Given the description of an element on the screen output the (x, y) to click on. 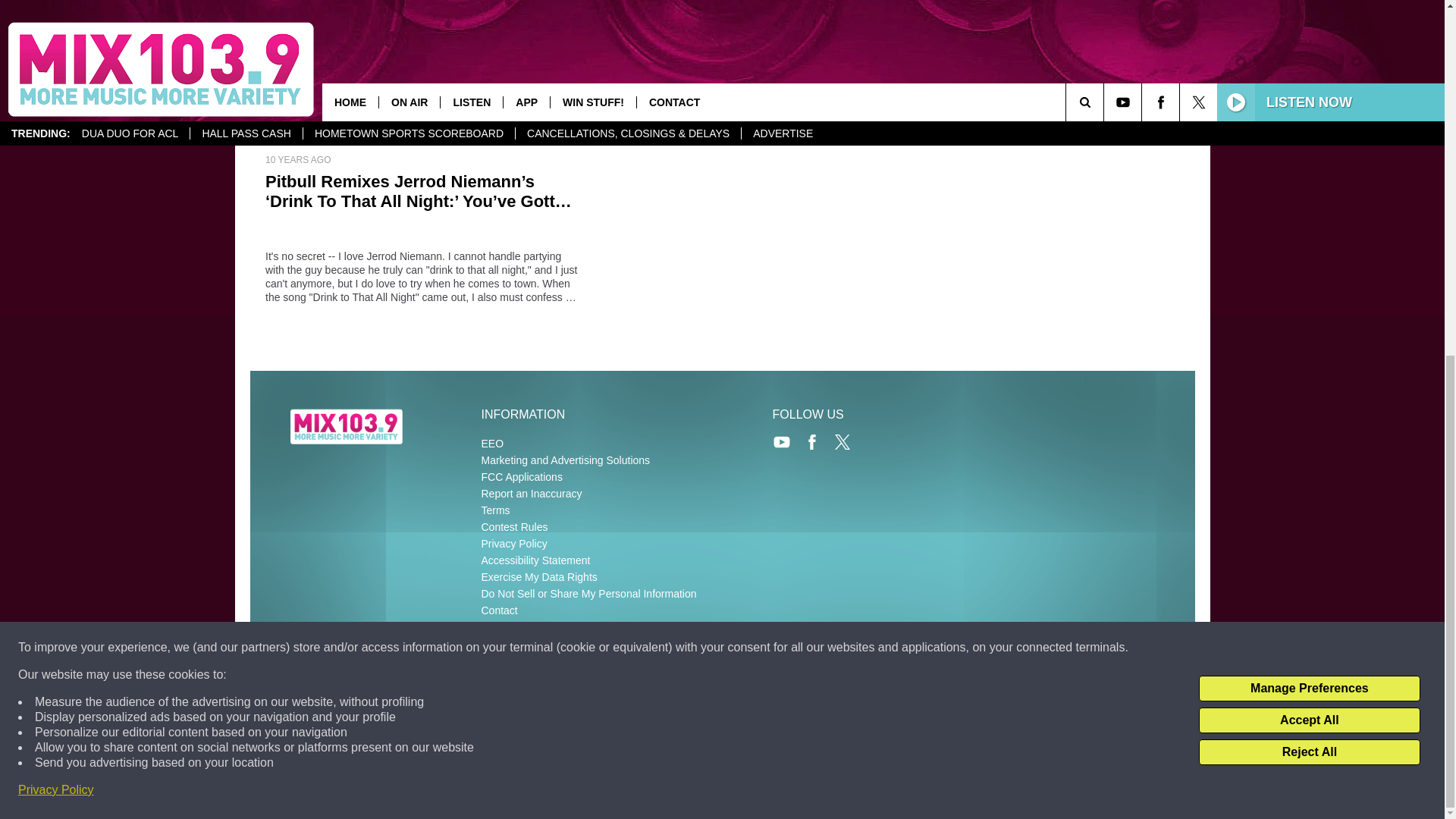
Manage Preferences (1309, 63)
Accept All (1309, 95)
Reject All (1309, 127)
Privacy Policy (55, 165)
